Given the description of an element on the screen output the (x, y) to click on. 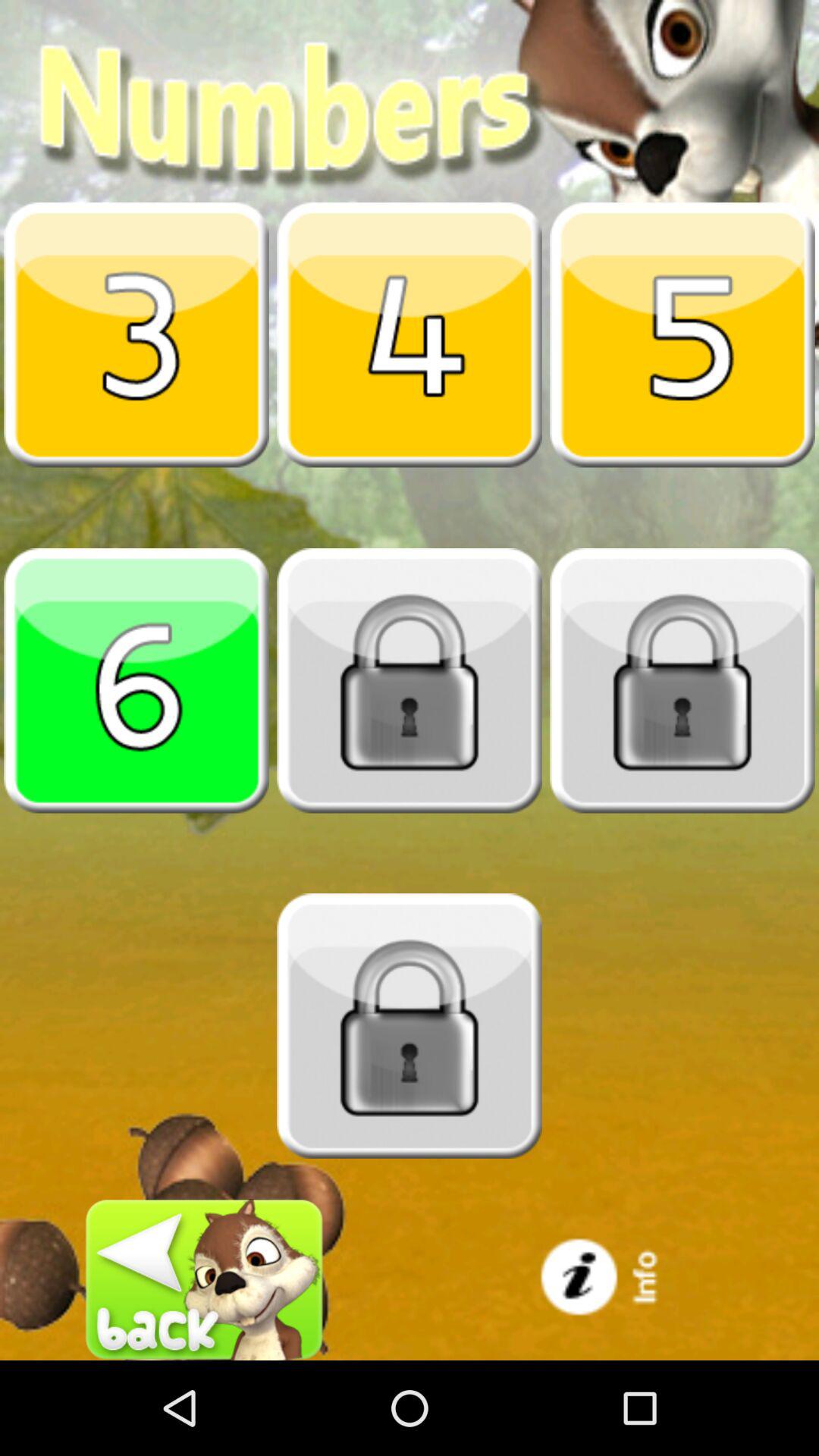
select number 4 (409, 334)
